Given the description of an element on the screen output the (x, y) to click on. 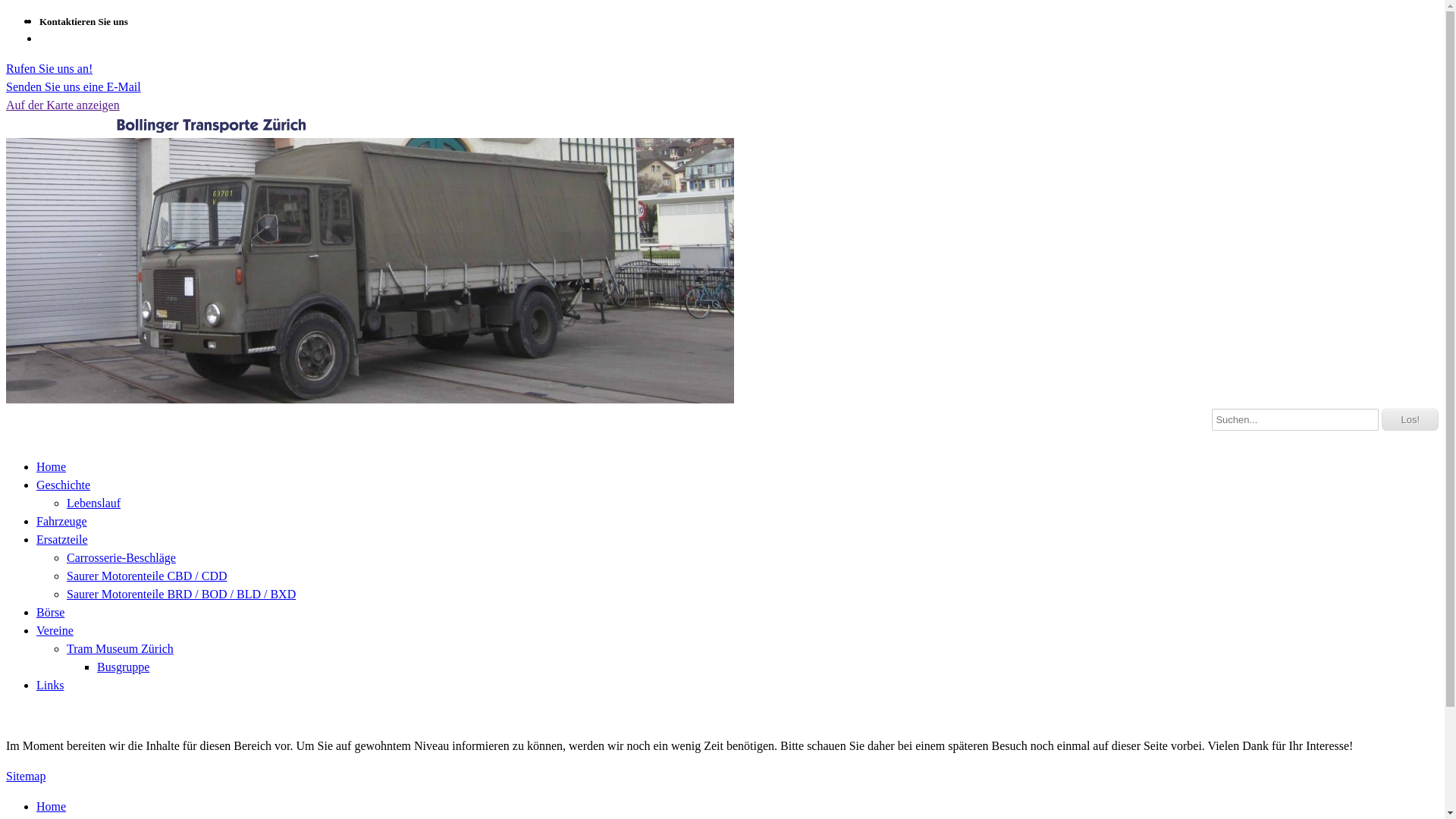
Geschichte Element type: text (63, 483)
Auf der Karte anzeigen Element type: text (62, 104)
Saurer Motorenteile BRD / BOD / BLD / BXD Element type: text (180, 592)
Senden Sie uns eine E-Mail Element type: text (73, 86)
Busgruppe Element type: text (123, 665)
Los! Element type: text (1409, 418)
Rufen Sie uns an! Element type: text (49, 68)
Saurer Motorenteile CBD / CDD Element type: text (146, 574)
Sitemap Element type: text (25, 774)
Fahrzeuge Element type: text (61, 520)
Lebenslauf Element type: text (93, 501)
Home Element type: text (50, 805)
Ersatzteile Element type: text (61, 538)
Home Element type: text (50, 465)
Links Element type: text (49, 683)
Vereine Element type: text (54, 629)
